Given the description of an element on the screen output the (x, y) to click on. 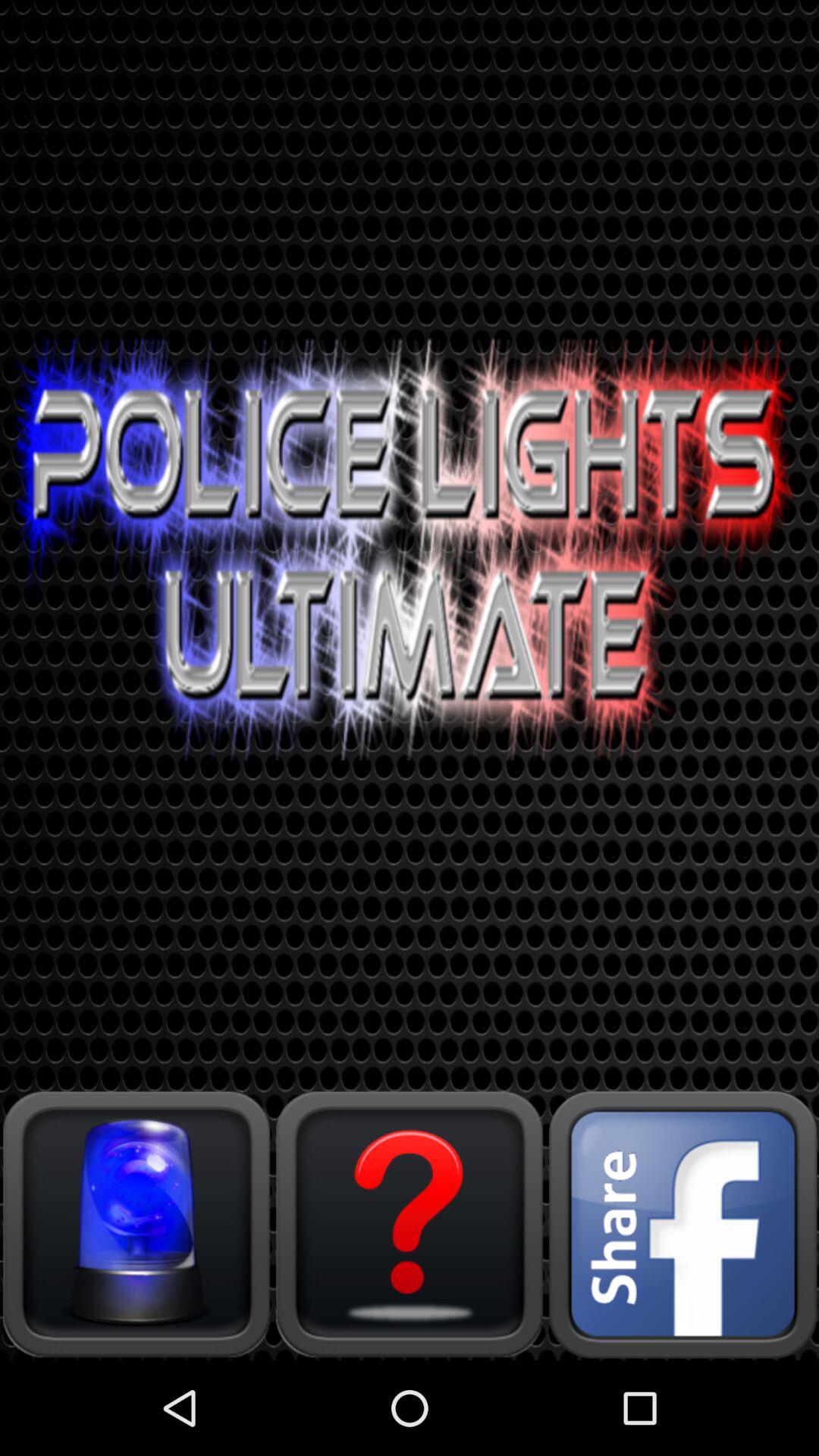
help need to know more (409, 1223)
